Given the description of an element on the screen output the (x, y) to click on. 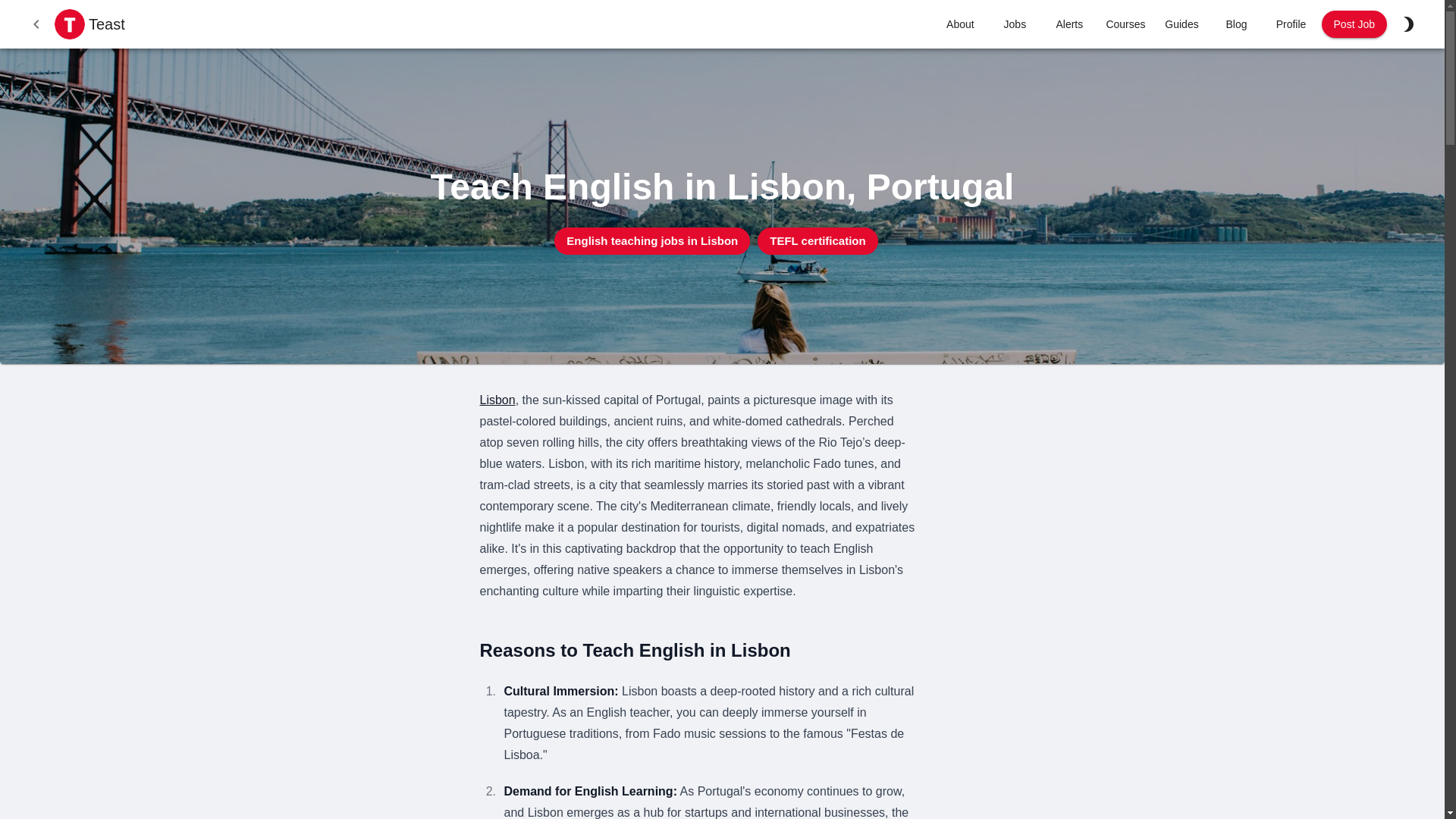
Profile (1291, 24)
Post Job (1354, 24)
TEFL certification (817, 240)
Guides (1182, 24)
English teaching jobs in Lisbon (651, 240)
Alerts (1069, 24)
Jobs (1014, 24)
Blog (1236, 24)
Lisbon (497, 399)
Courses (1125, 24)
